Given the description of an element on the screen output the (x, y) to click on. 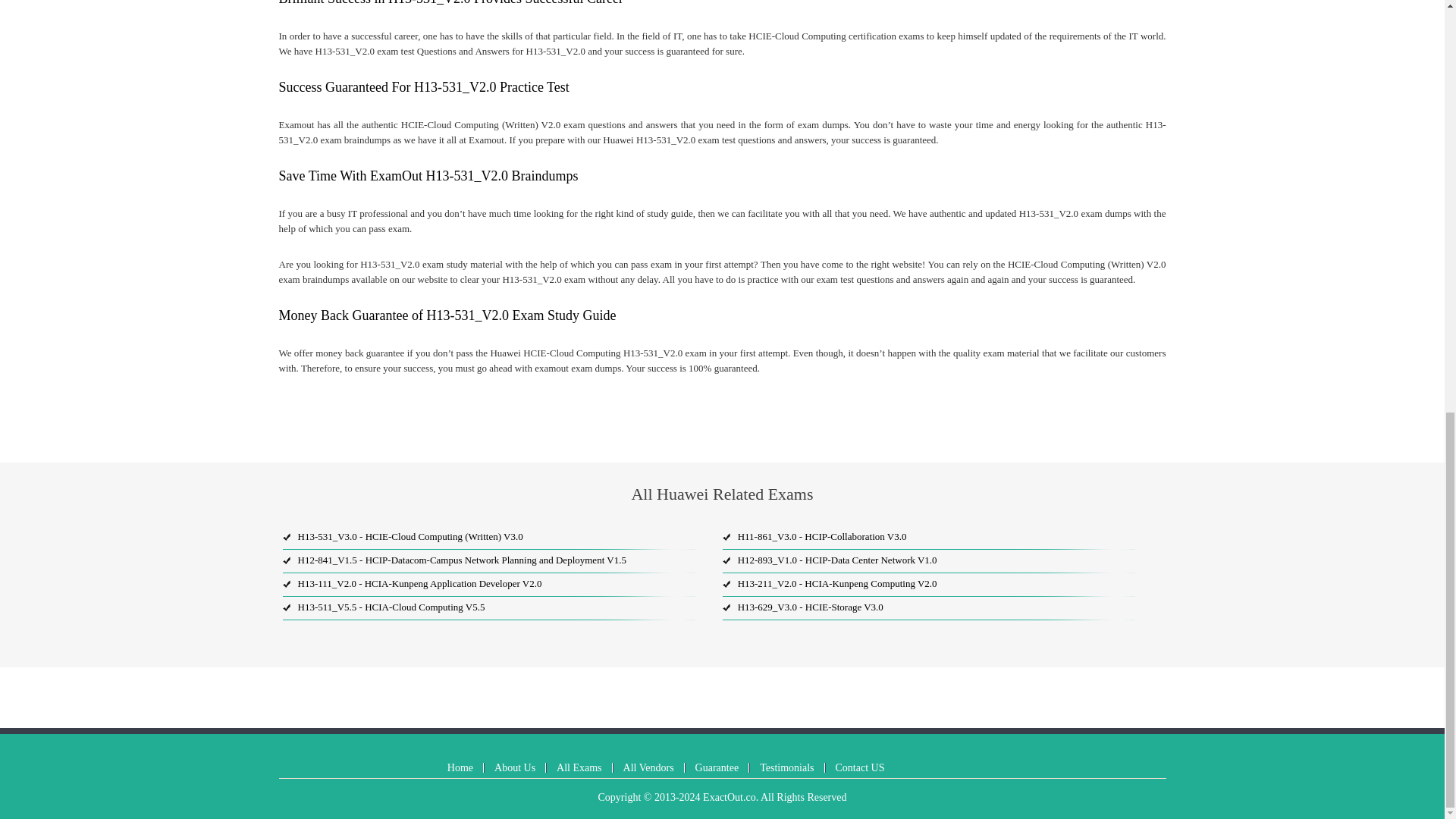
All Exams (579, 767)
Guarantee (717, 767)
All Vendors (648, 767)
About Us (515, 767)
Home (459, 767)
Testimonials (786, 767)
